Given the description of an element on the screen output the (x, y) to click on. 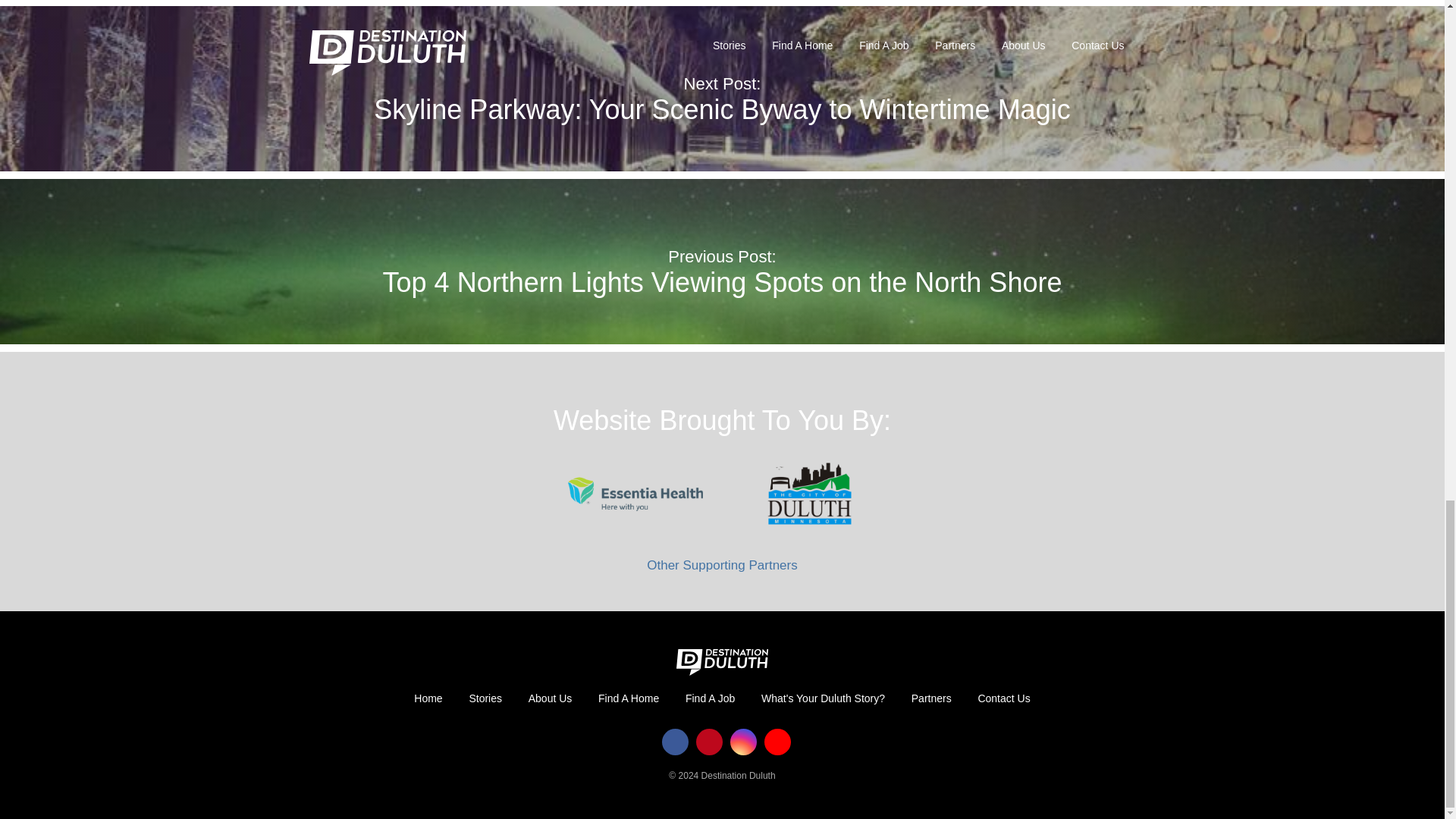
Stories (485, 698)
About Us (549, 698)
Contact Us (1003, 698)
What's Your Duluth Story? (822, 698)
Partners (930, 698)
Home (427, 698)
Other Supporting Partners (721, 564)
Find A Job (709, 698)
Find A Home (627, 698)
